Given the description of an element on the screen output the (x, y) to click on. 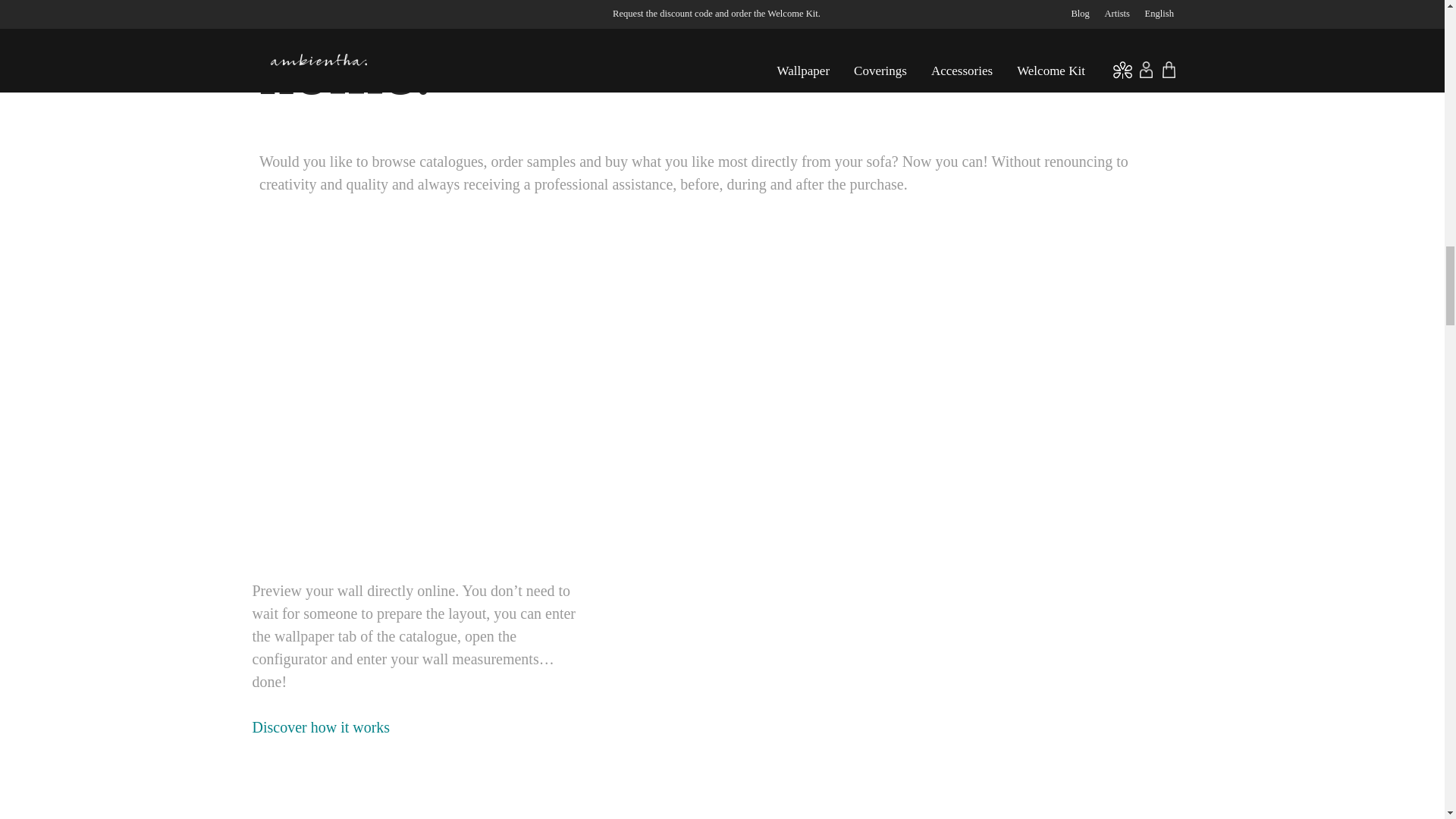
carta-da-parati-su-misura-ambientha (399, 405)
